Given the description of an element on the screen output the (x, y) to click on. 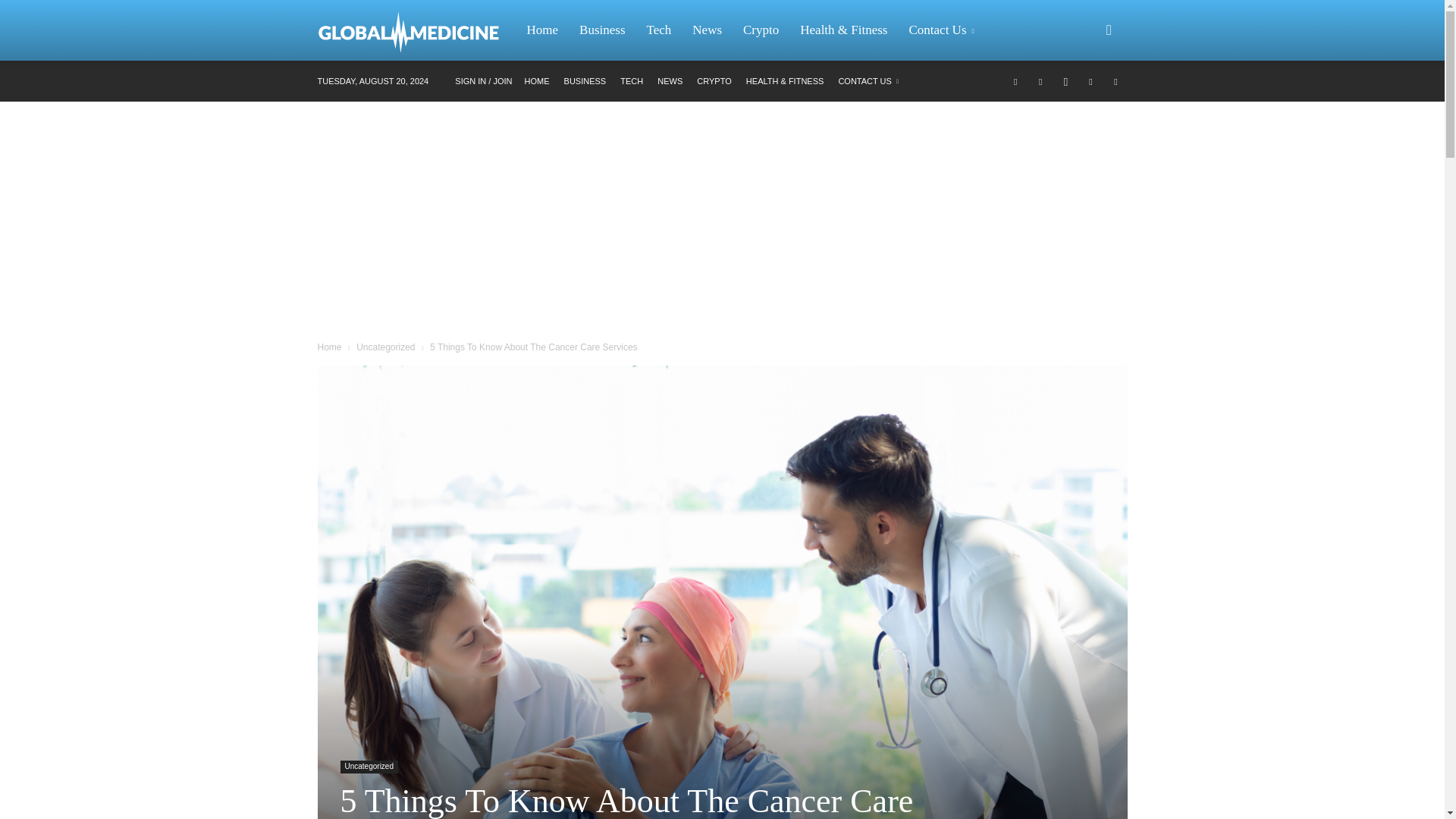
Crypto (760, 30)
NEWS (670, 80)
Contact Us (944, 30)
Business (601, 30)
DailyTimeZone (416, 30)
Search (1085, 102)
HOME (537, 80)
TECH (631, 80)
